Given the description of an element on the screen output the (x, y) to click on. 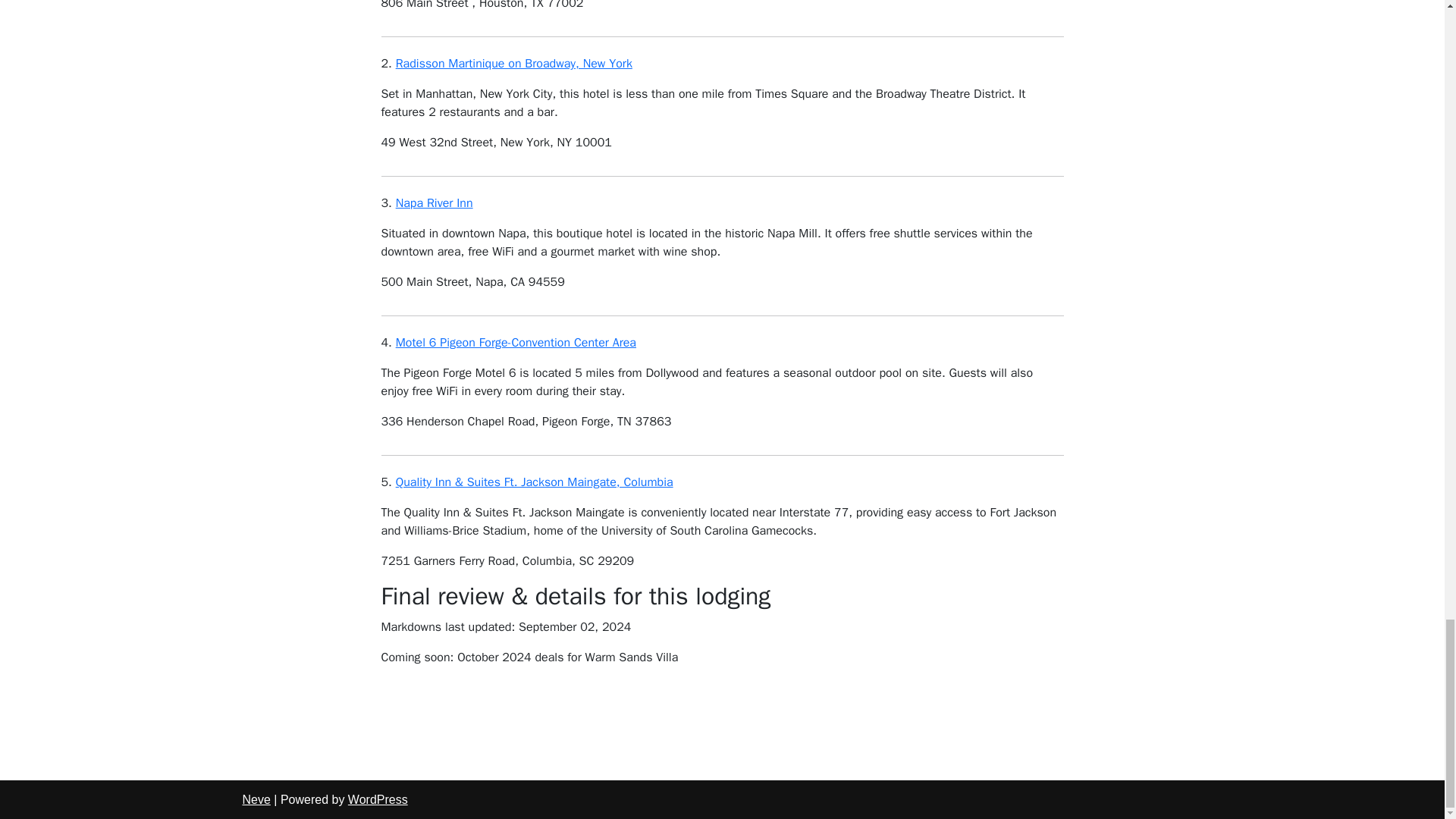
WordPress (377, 799)
Neve (256, 799)
Napa River Inn (434, 202)
Motel 6 Pigeon Forge-Convention Center Area (516, 342)
Radisson Martinique on Broadway, New York (513, 63)
